Given the description of an element on the screen output the (x, y) to click on. 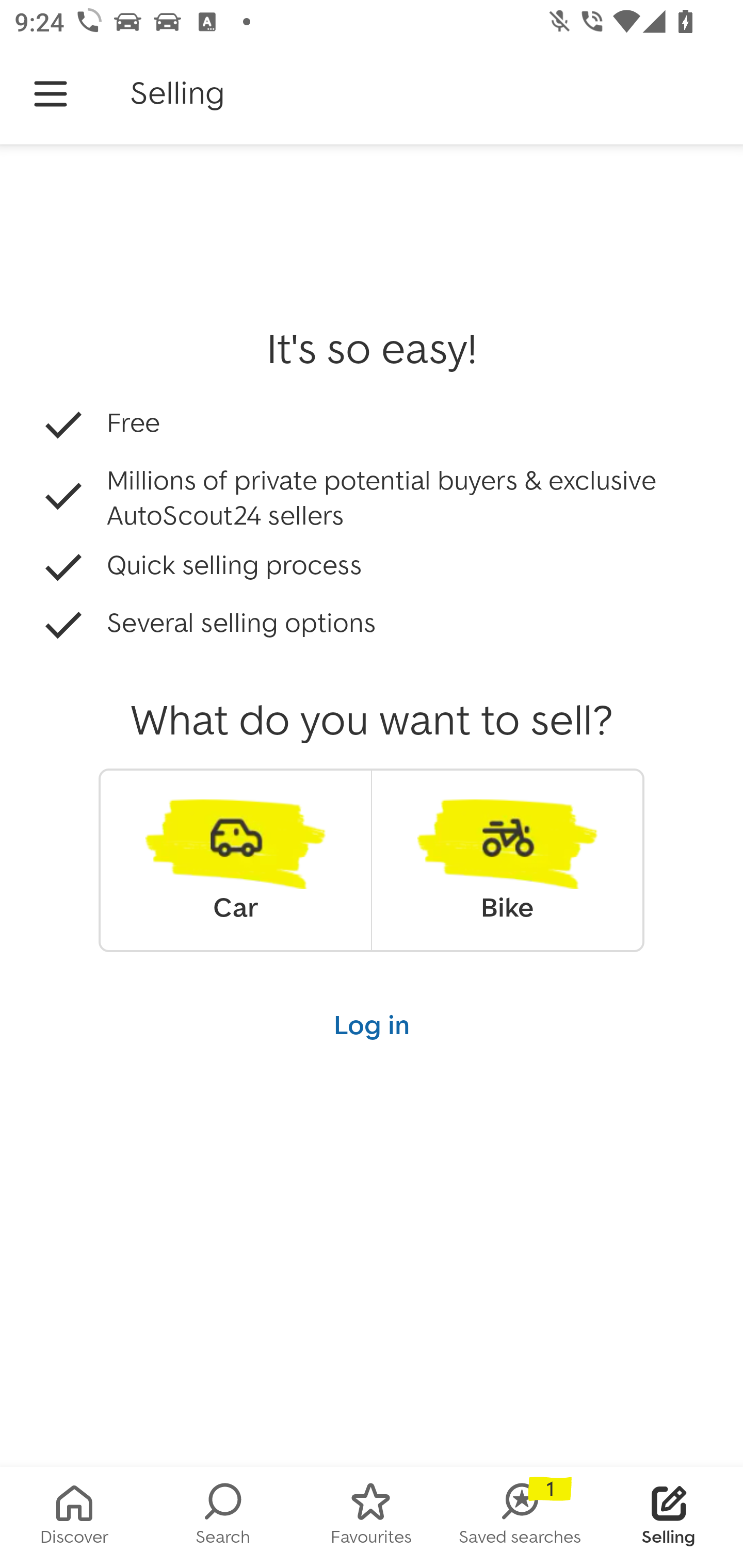
Navigate up (50, 93)
Car (235, 859)
Bike (507, 859)
Log in (371, 1024)
HOMESCREEN Discover (74, 1517)
SEARCH Search (222, 1517)
FAVORITES Favourites (371, 1517)
SAVED_SEARCHES Saved searches 1 (519, 1517)
STOCK_LIST Selling (668, 1517)
